Given the description of an element on the screen output the (x, y) to click on. 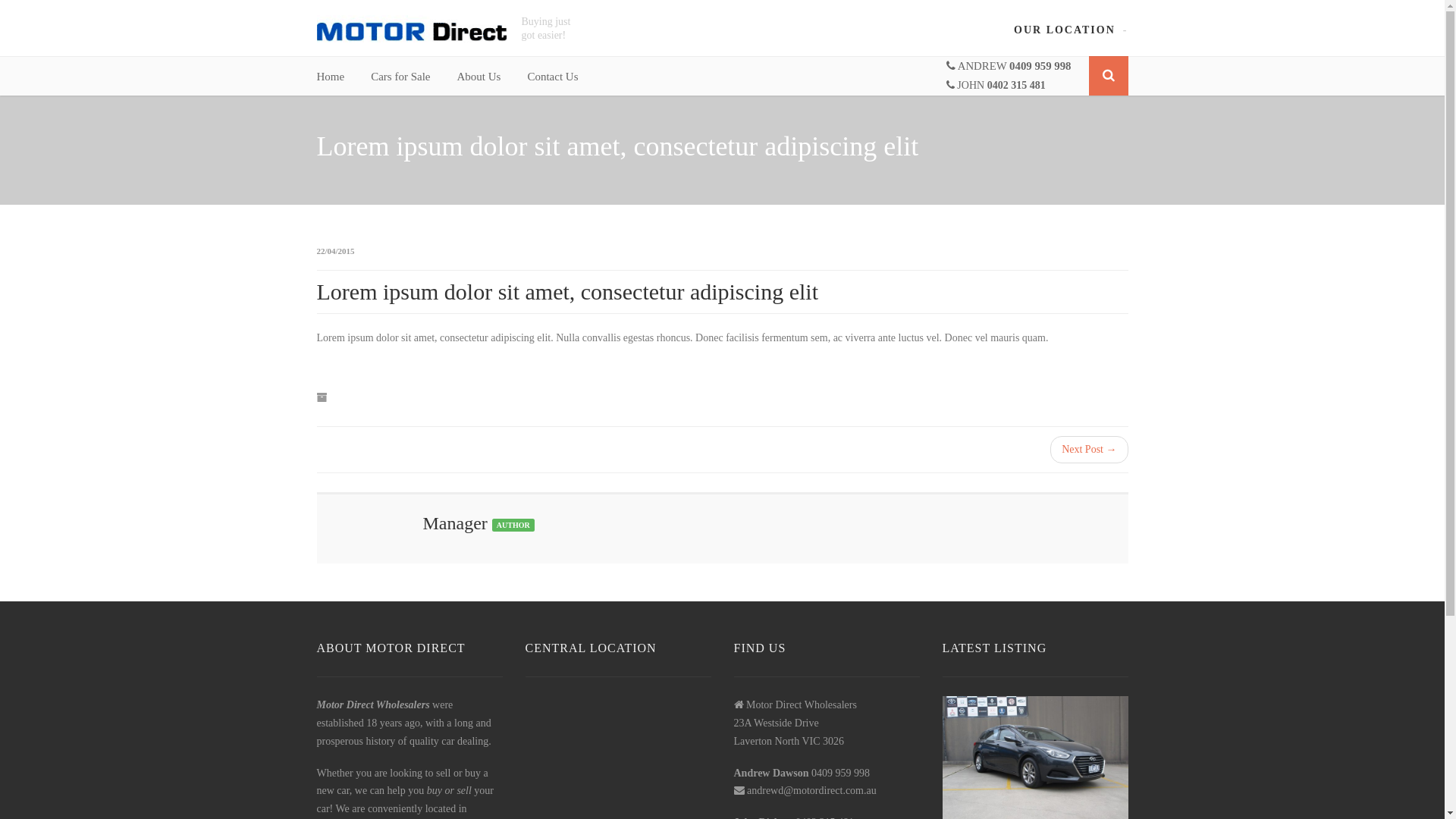
JOHN 0402 315 481 Element type: text (995, 85)
andrewd@motordirect.com.au Element type: text (811, 790)
About Us Element type: text (478, 76)
ANDREW 0409 959 998 Element type: text (1008, 65)
Cars for Sale Element type: text (399, 76)
Motor Direct Melbourne Car Wholesalers Element type: hover (411, 28)
0409 959 998 Element type: text (840, 772)
Home Element type: text (330, 76)
Contact Us Element type: text (552, 76)
OUR LOCATION Element type: text (1064, 29)
